Given the description of an element on the screen output the (x, y) to click on. 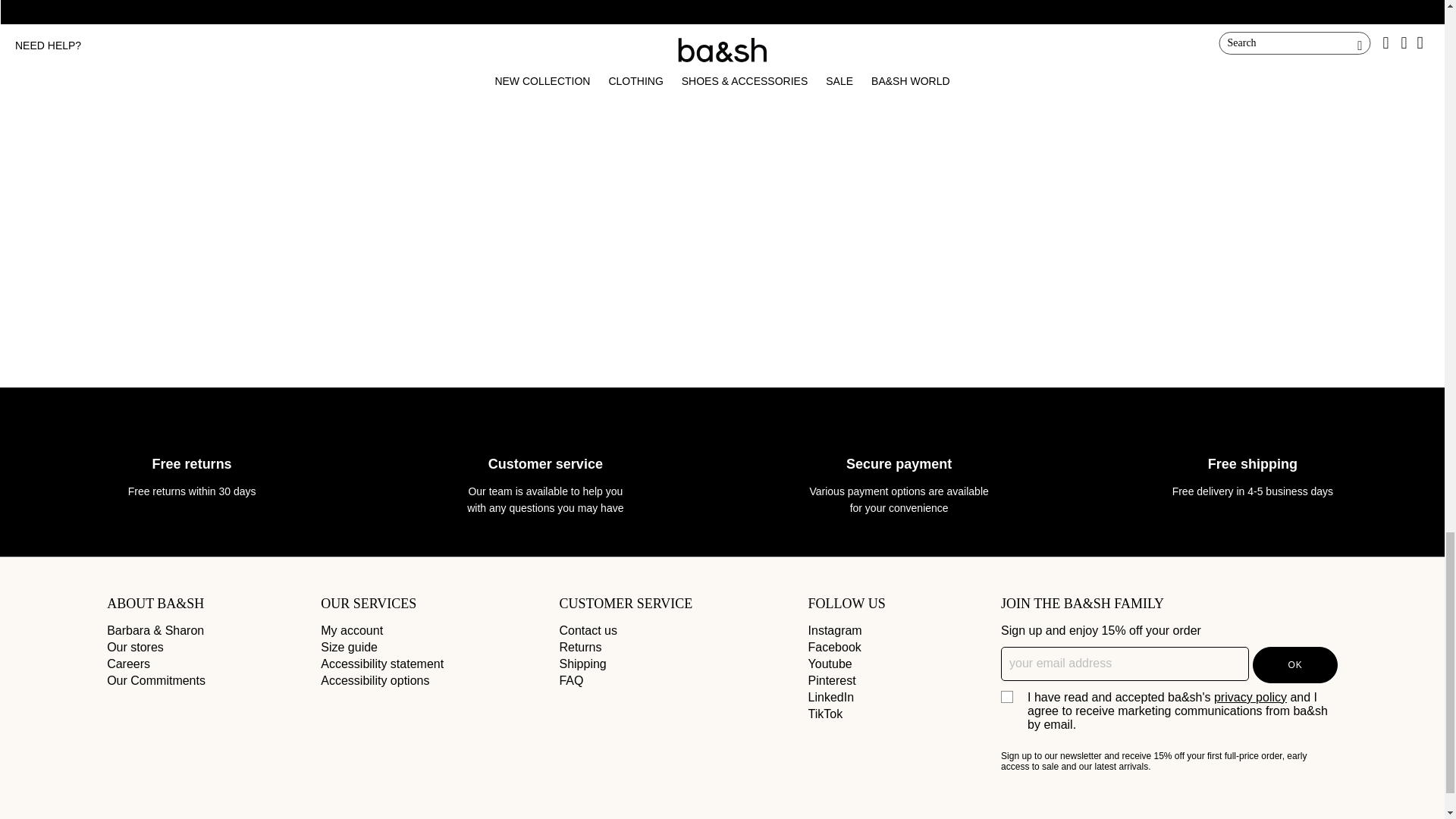
on (1005, 696)
